Given the description of an element on the screen output the (x, y) to click on. 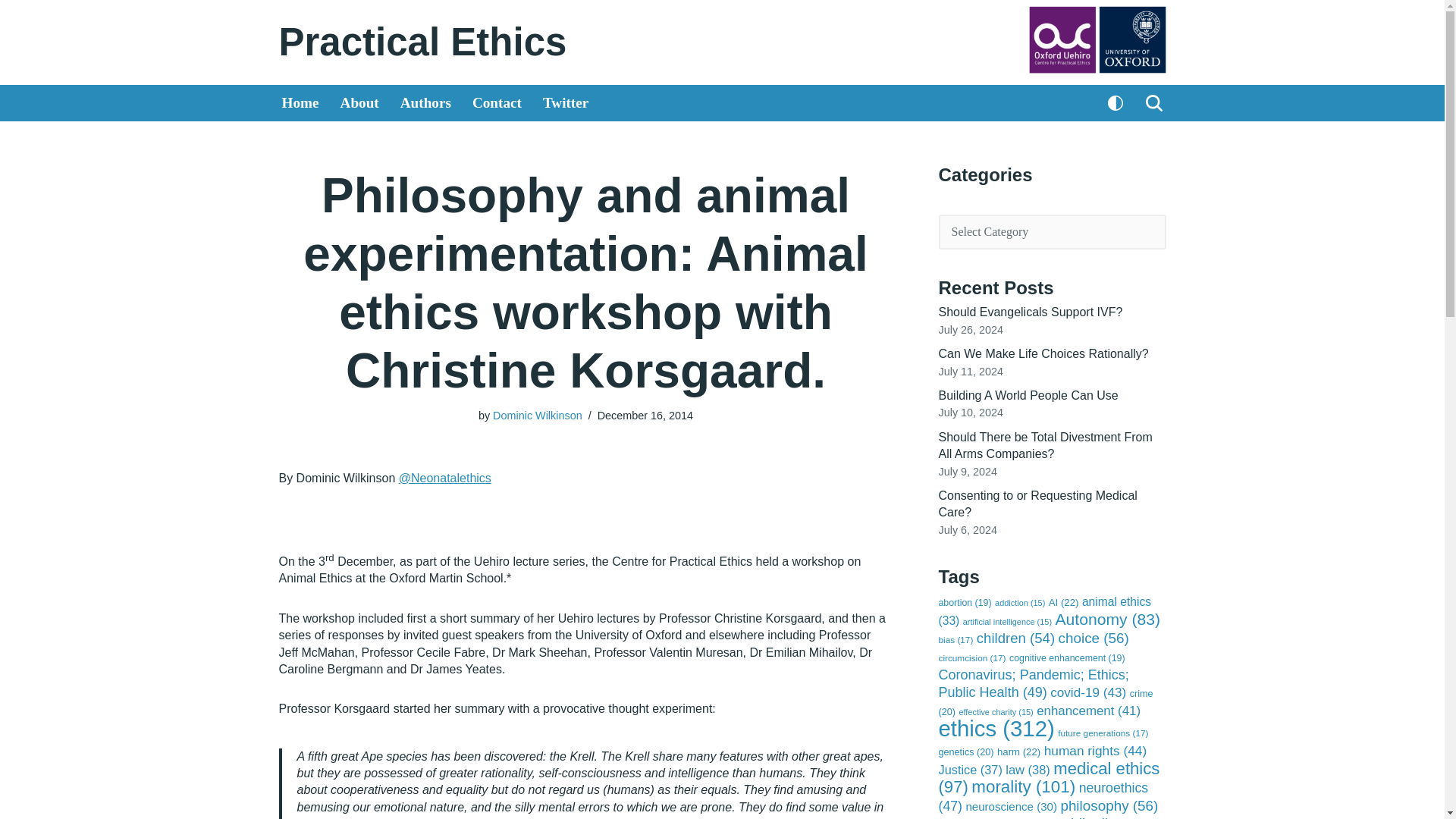
Can We Make Life Choices Rationally? (1043, 353)
Consenting to or Requesting Medical Care? (1038, 503)
Contact (496, 102)
Dominic Wilkinson (537, 415)
Should There be Total Divestment From All Arms Companies? (1046, 445)
Posts by Dominic Wilkinson (537, 415)
About (359, 102)
Skip to content (11, 31)
Practical Ethics (423, 41)
Authors (425, 102)
Home (300, 102)
Twitter (565, 102)
Building A World People Can Use (1028, 395)
Should Evangelicals Support IVF? (1030, 311)
